Given the description of an element on the screen output the (x, y) to click on. 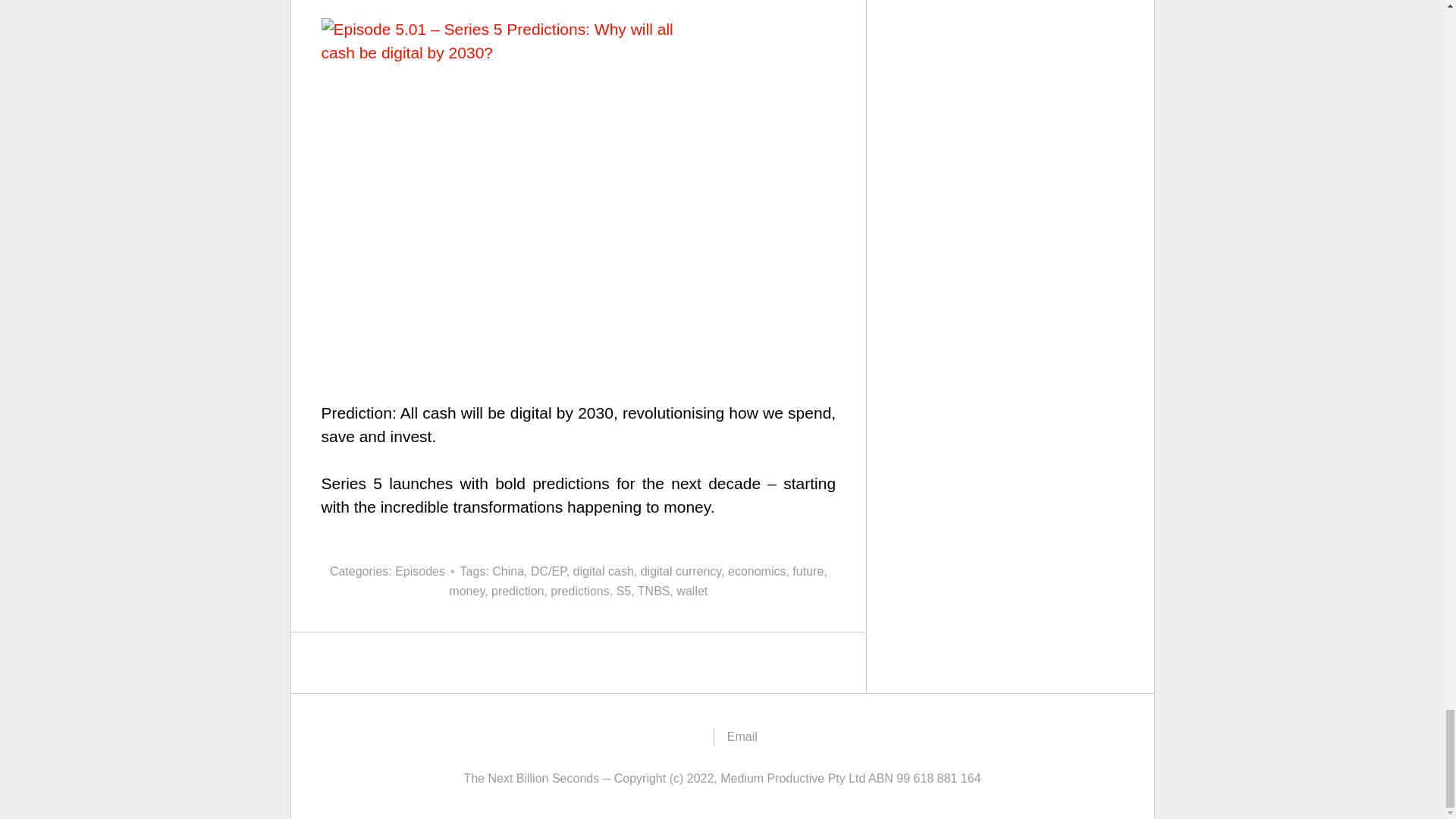
Why will all cash will be digital by 2030? (578, 312)
